Given the description of an element on the screen output the (x, y) to click on. 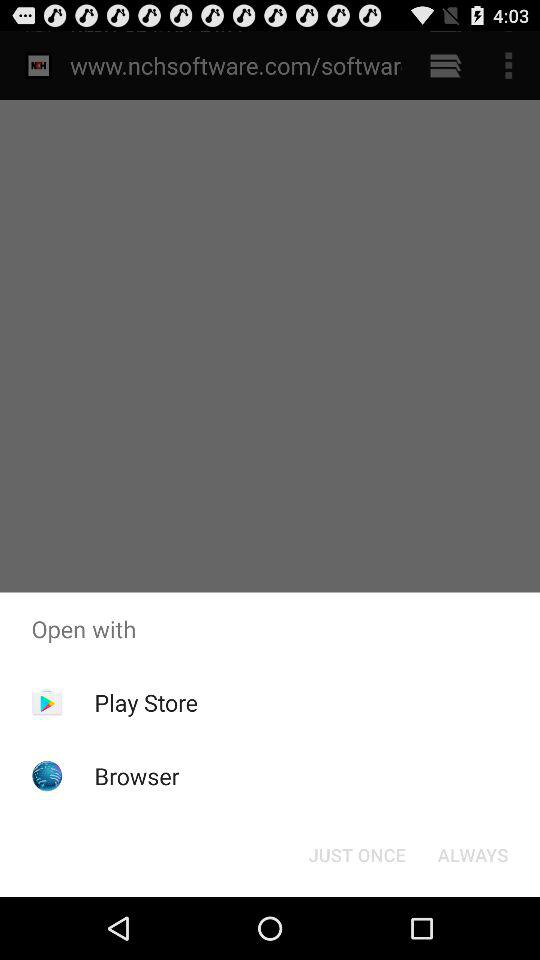
turn on item below the open with (472, 854)
